Given the description of an element on the screen output the (x, y) to click on. 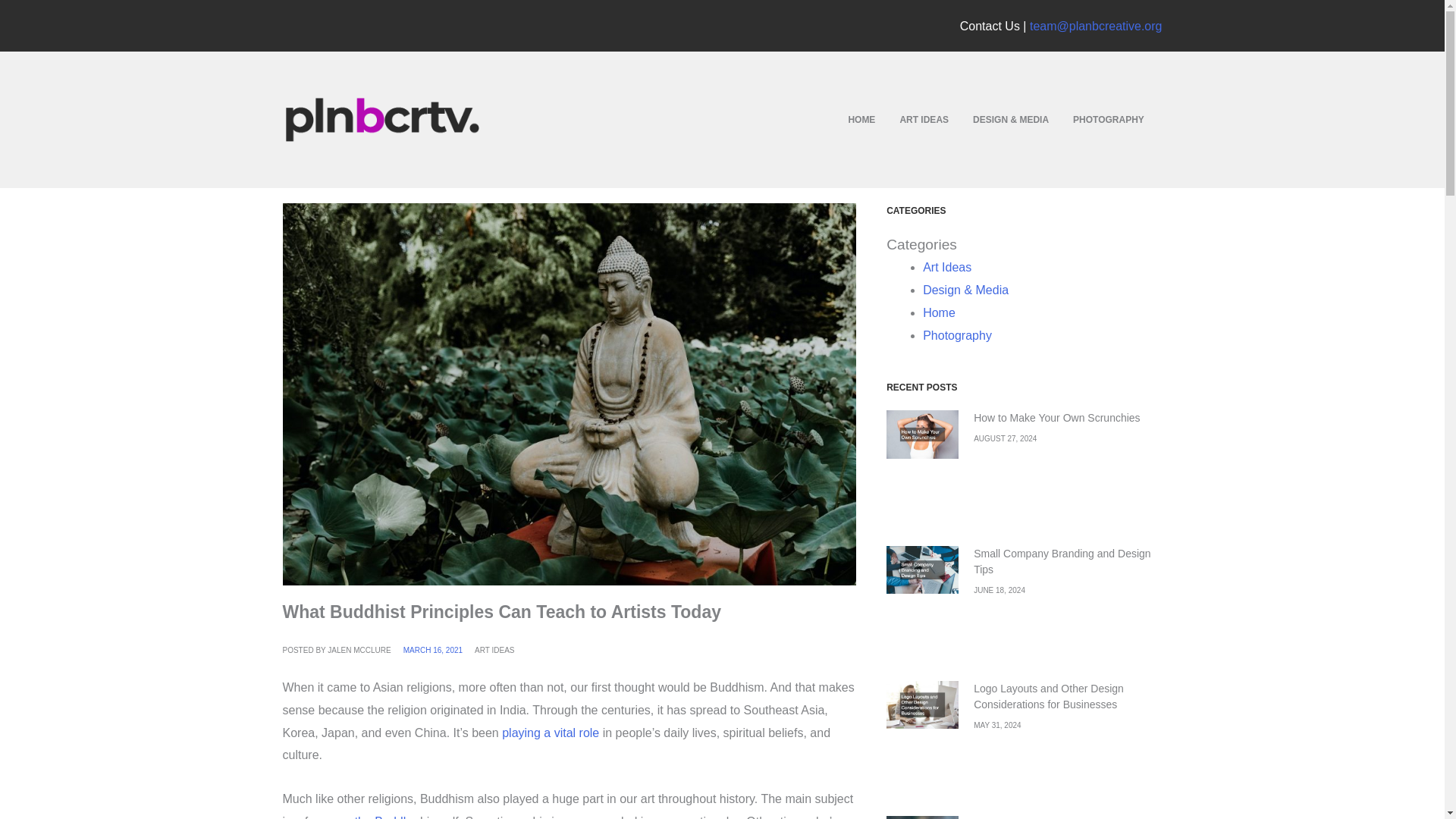
playing a vital role (550, 732)
Logo Layouts and Other Design Considerations for Businesses (1049, 696)
the Buddha (385, 816)
Art Ideas (947, 267)
How to Make Your Own Scrunchies (1057, 417)
PHOTOGRAPHY (1108, 119)
Home (939, 312)
ART IDEAS (924, 119)
Photography (957, 335)
